Given the description of an element on the screen output the (x, y) to click on. 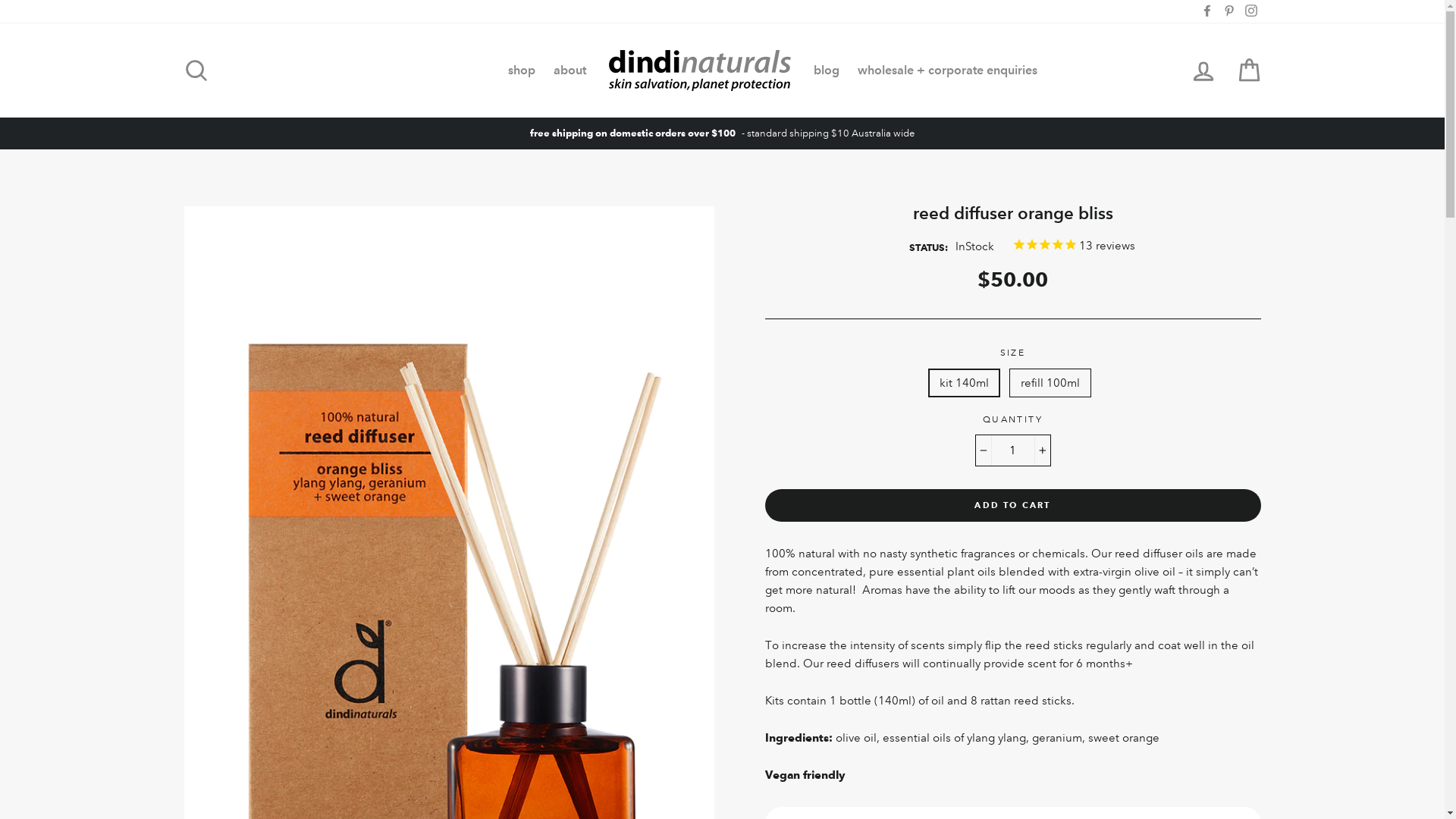
Instagram Element type: text (1250, 11)
PreOrder Me Element type: text (42, 15)
+ Element type: text (1042, 450)
Pinterest Element type: text (1229, 11)
blog Element type: text (826, 70)
ADD TO CART Element type: text (1012, 505)
Skip to content Element type: text (0, 0)
wholesale + corporate enquiries Element type: text (947, 70)
Cart Element type: text (1247, 70)
Facebook Element type: text (1206, 11)
about Element type: text (569, 70)
shop Element type: text (521, 70)
